Given the description of an element on the screen output the (x, y) to click on. 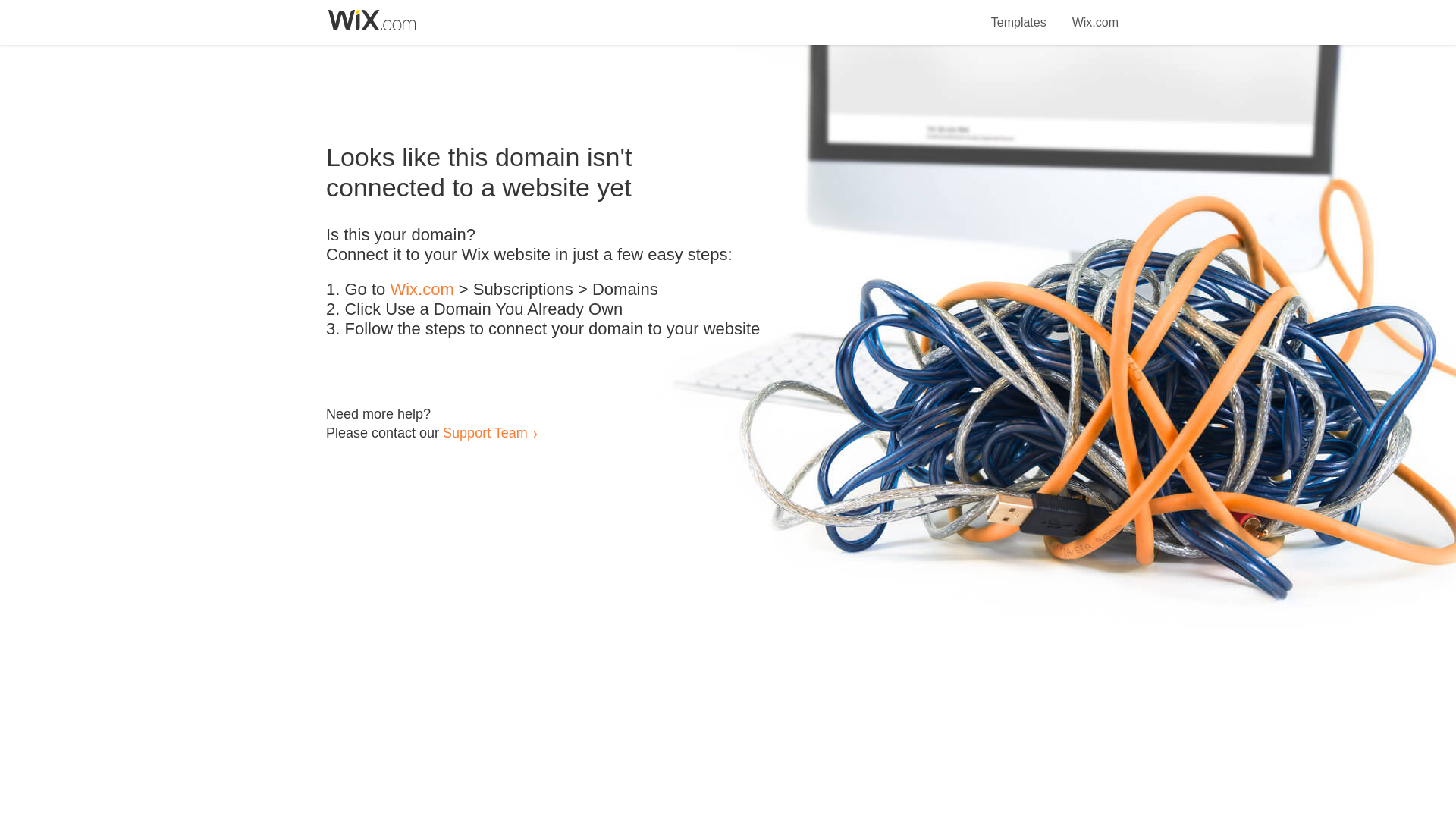
Support Team (484, 432)
Wix.com (421, 289)
Templates (1018, 14)
Wix.com (1095, 14)
